Given the description of an element on the screen output the (x, y) to click on. 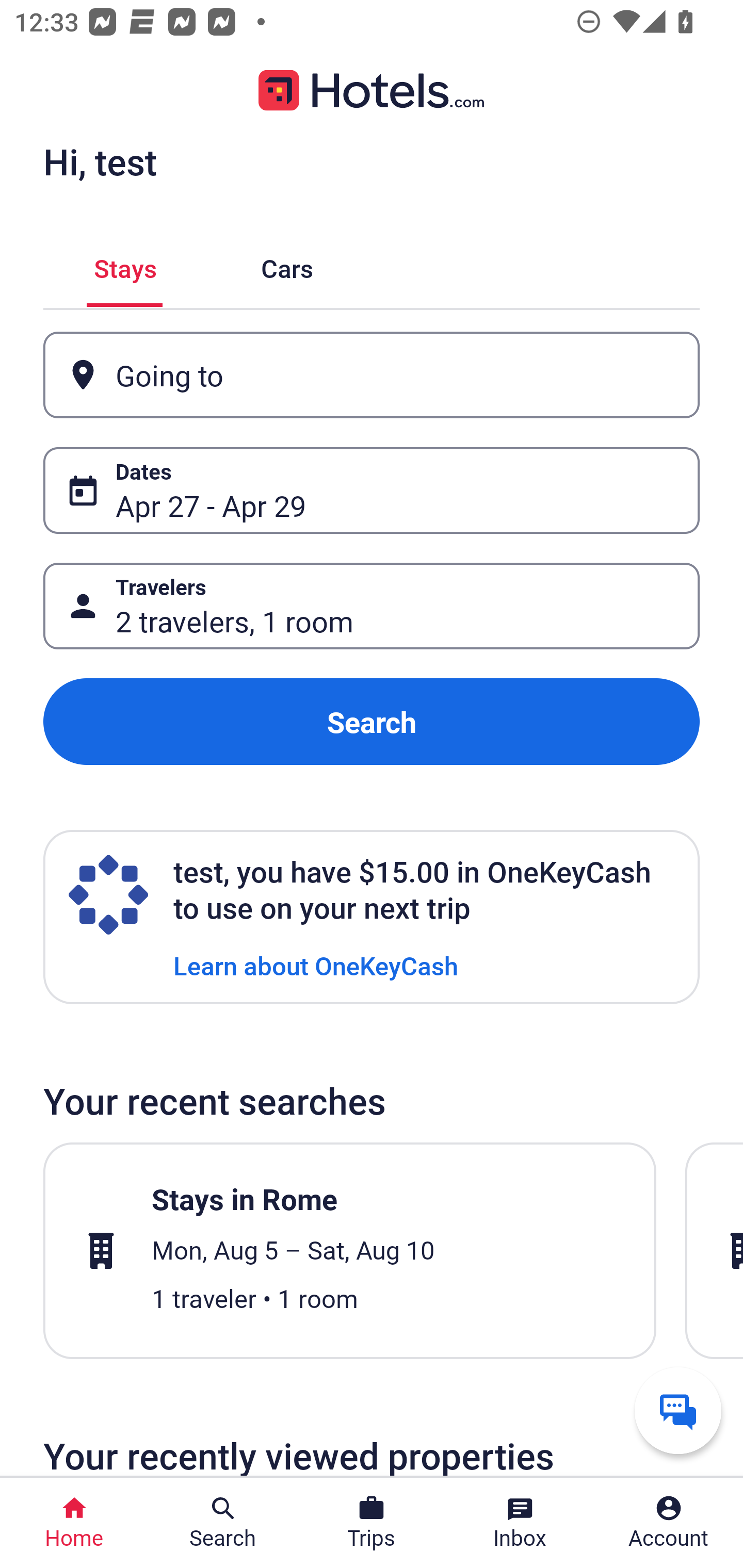
Hi, test (99, 161)
Cars (286, 265)
Going to Button (371, 375)
Dates Button Apr 27 - Apr 29 (371, 489)
Travelers Button 2 travelers, 1 room (371, 605)
Search (371, 721)
Learn about OneKeyCash Learn about OneKeyCash Link (315, 964)
Get help from a virtual agent (677, 1410)
Search Search Button (222, 1522)
Trips Trips Button (371, 1522)
Inbox Inbox Button (519, 1522)
Account Profile. Button (668, 1522)
